Given the description of an element on the screen output the (x, y) to click on. 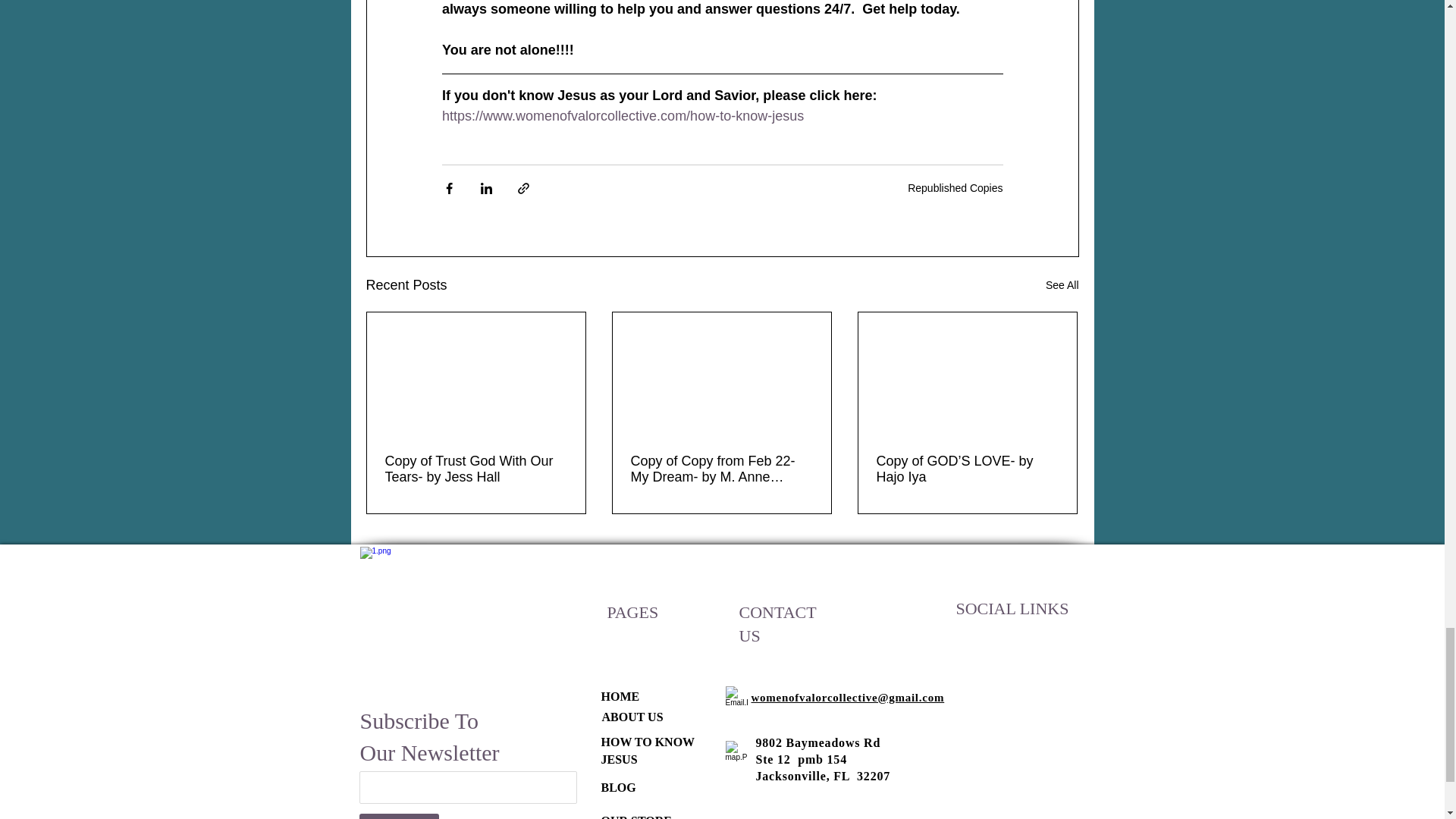
HOW TO KNOW JESUS (646, 749)
Copy of Trust God With Our Tears- by Jess Hall (476, 469)
BLOG (616, 787)
9802 Baymeadows Rd (817, 742)
Subscribe (399, 816)
Copy of Copy from Feb 22- My Dream- by M. Anne Blount (721, 469)
OUR STORE (635, 816)
HOME (619, 696)
See All (1061, 285)
ABOUT US (632, 716)
Republished Copies (955, 187)
